Given the description of an element on the screen output the (x, y) to click on. 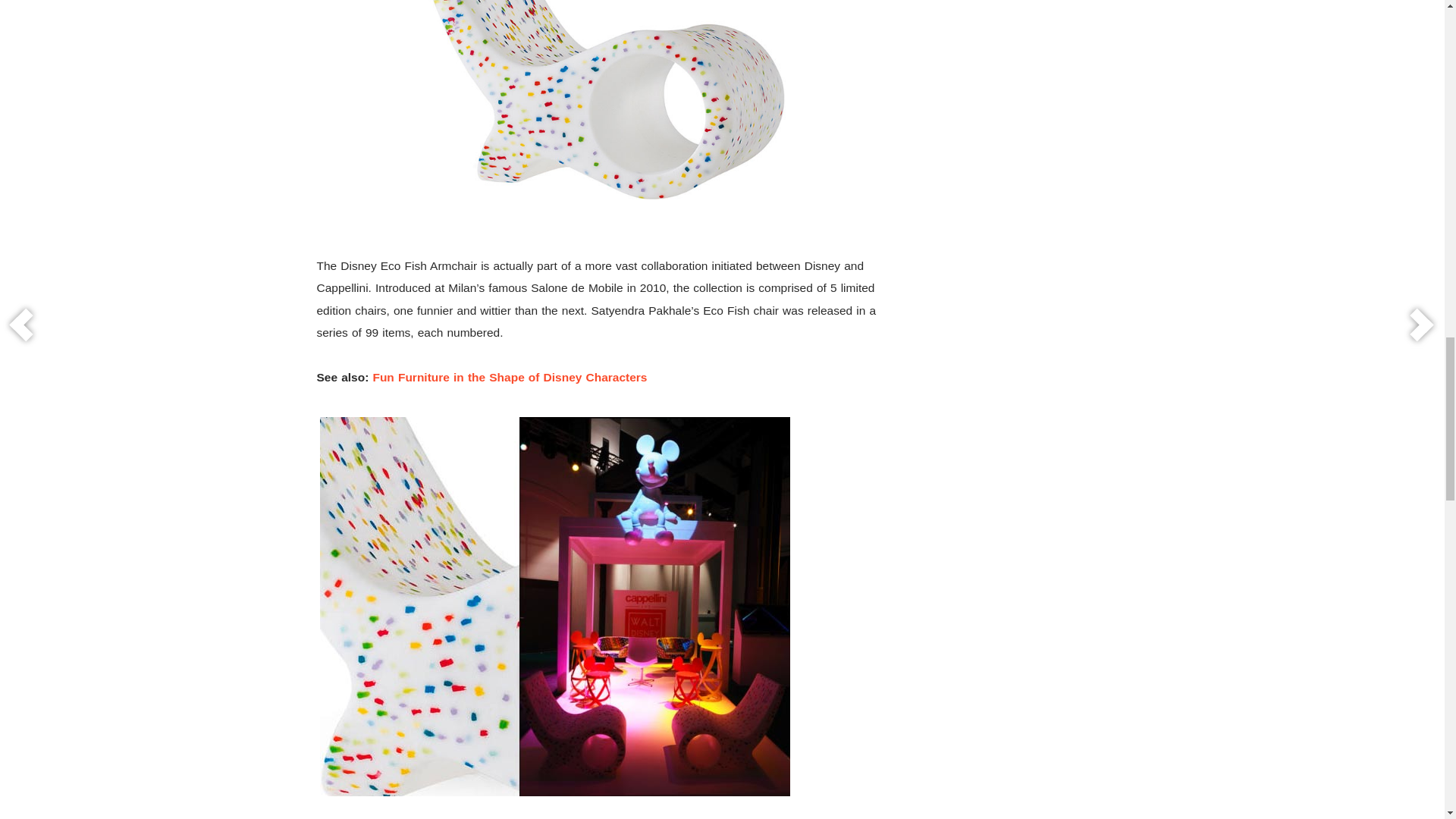
Fun Furniture in the Shape of Disney Characters (509, 377)
